Given the description of an element on the screen output the (x, y) to click on. 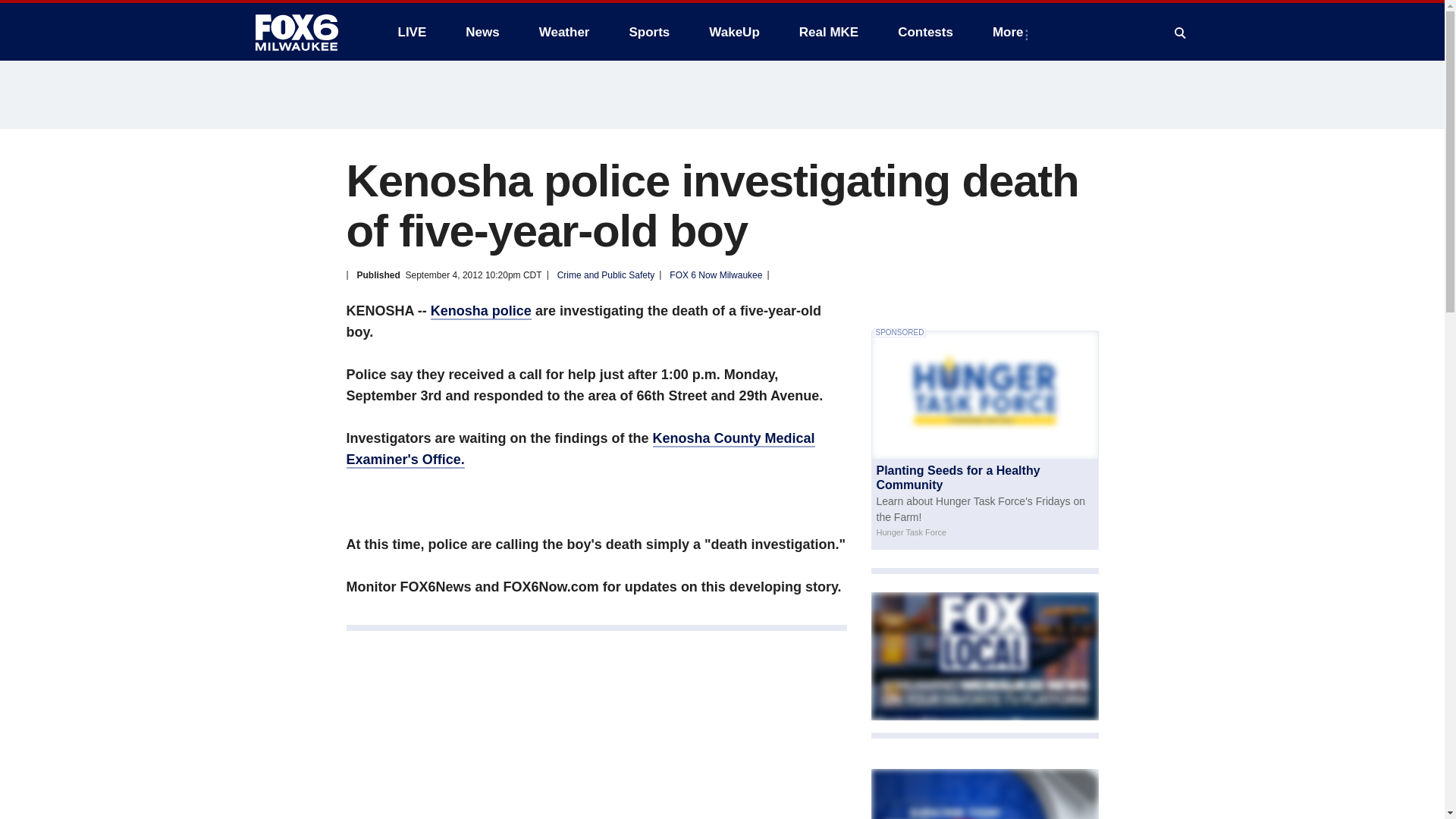
Real MKE (828, 32)
Sports (648, 32)
Weather (564, 32)
More (1010, 32)
News (481, 32)
LIVE (411, 32)
WakeUp (734, 32)
Contests (925, 32)
